Given the description of an element on the screen output the (x, y) to click on. 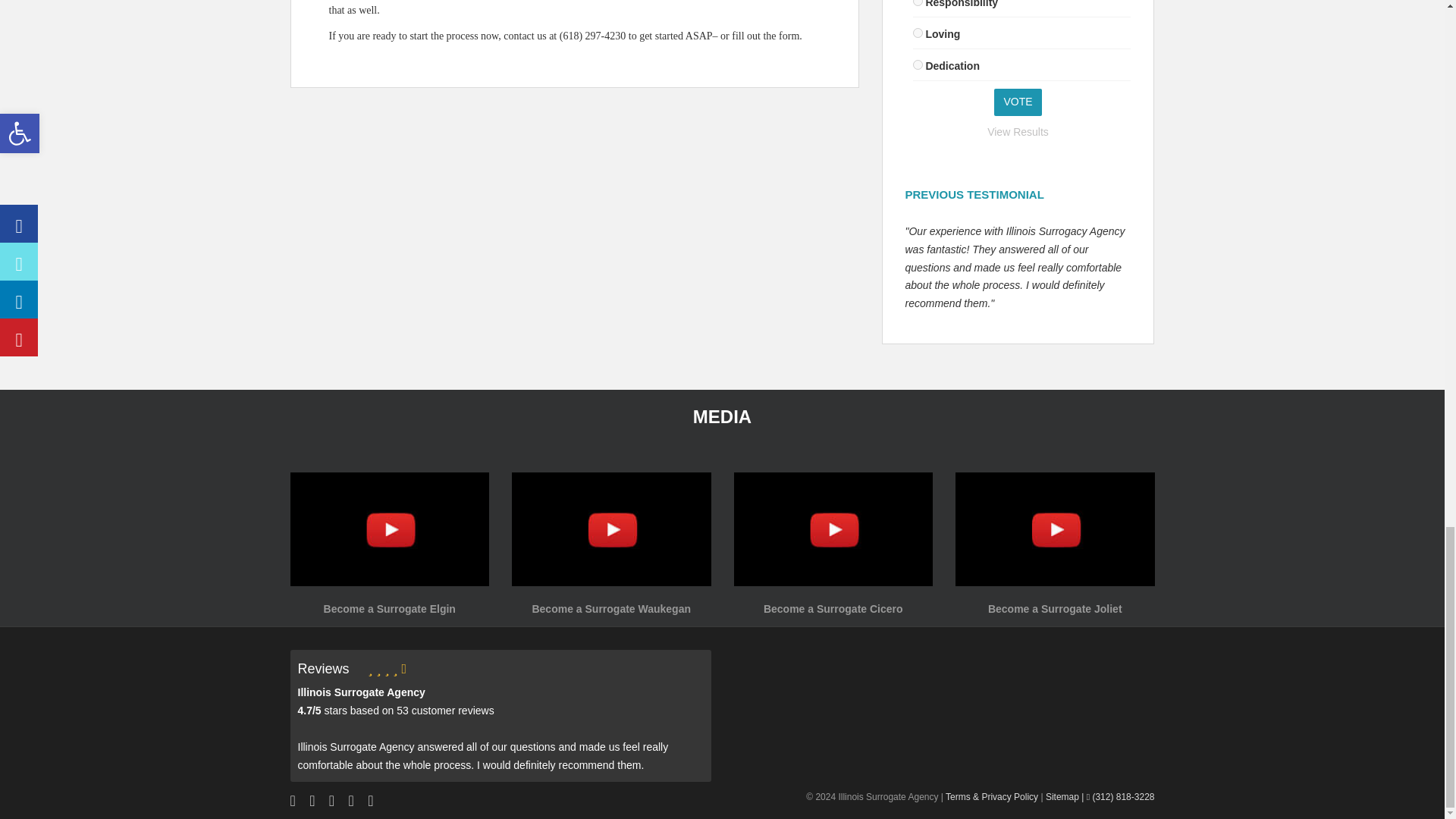
   Vote    (1017, 102)
View Results Of This Poll (1017, 132)
14 (917, 2)
16 (917, 64)
15 (917, 32)
